Given the description of an element on the screen output the (x, y) to click on. 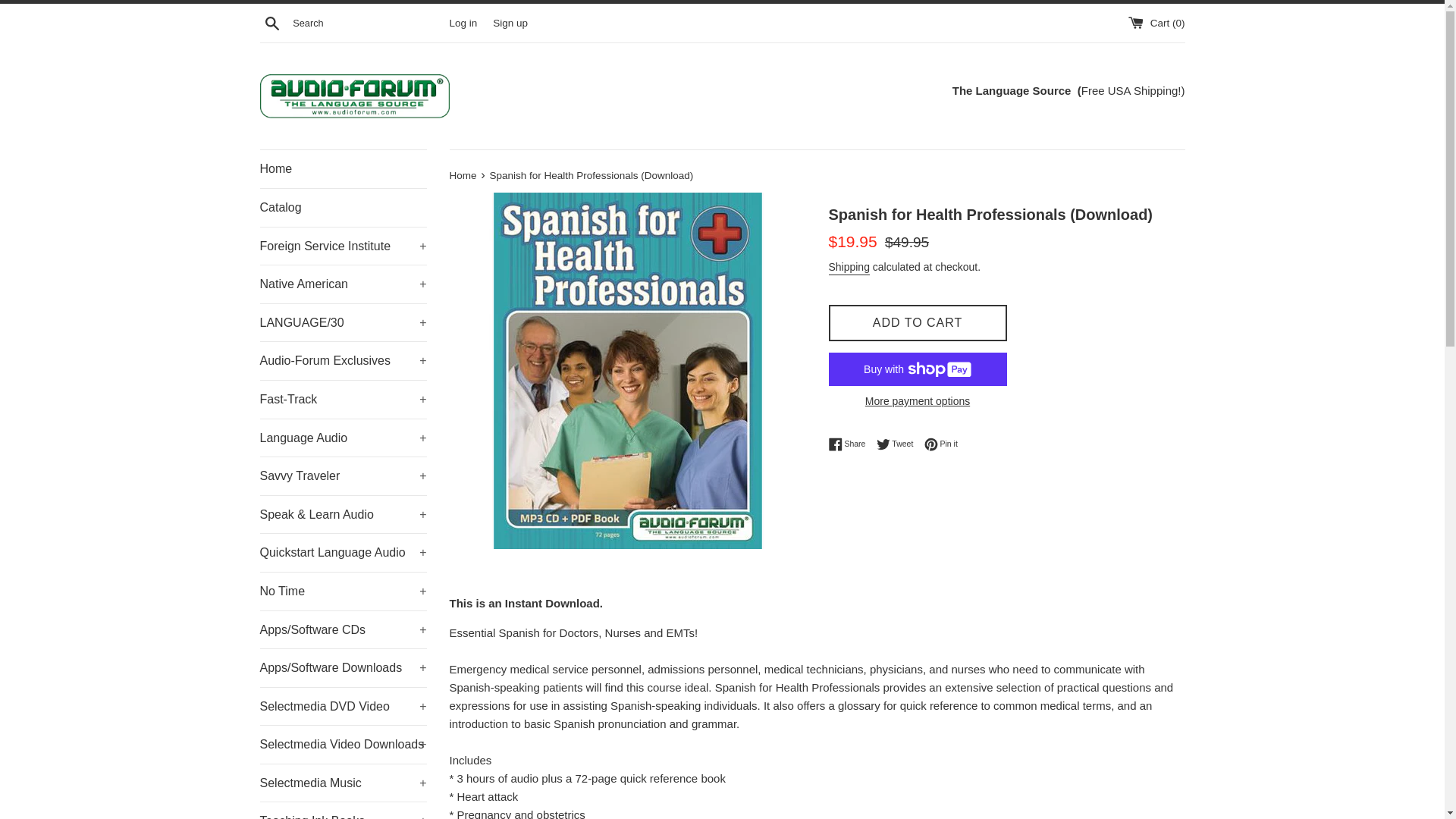
Share on Facebook (850, 444)
Back to the frontpage (463, 174)
Search (271, 21)
Sign up (510, 21)
Catalog (342, 207)
Home (342, 168)
Log in (462, 21)
Pin on Pinterest (941, 444)
Tweet on Twitter (898, 444)
